Given the description of an element on the screen output the (x, y) to click on. 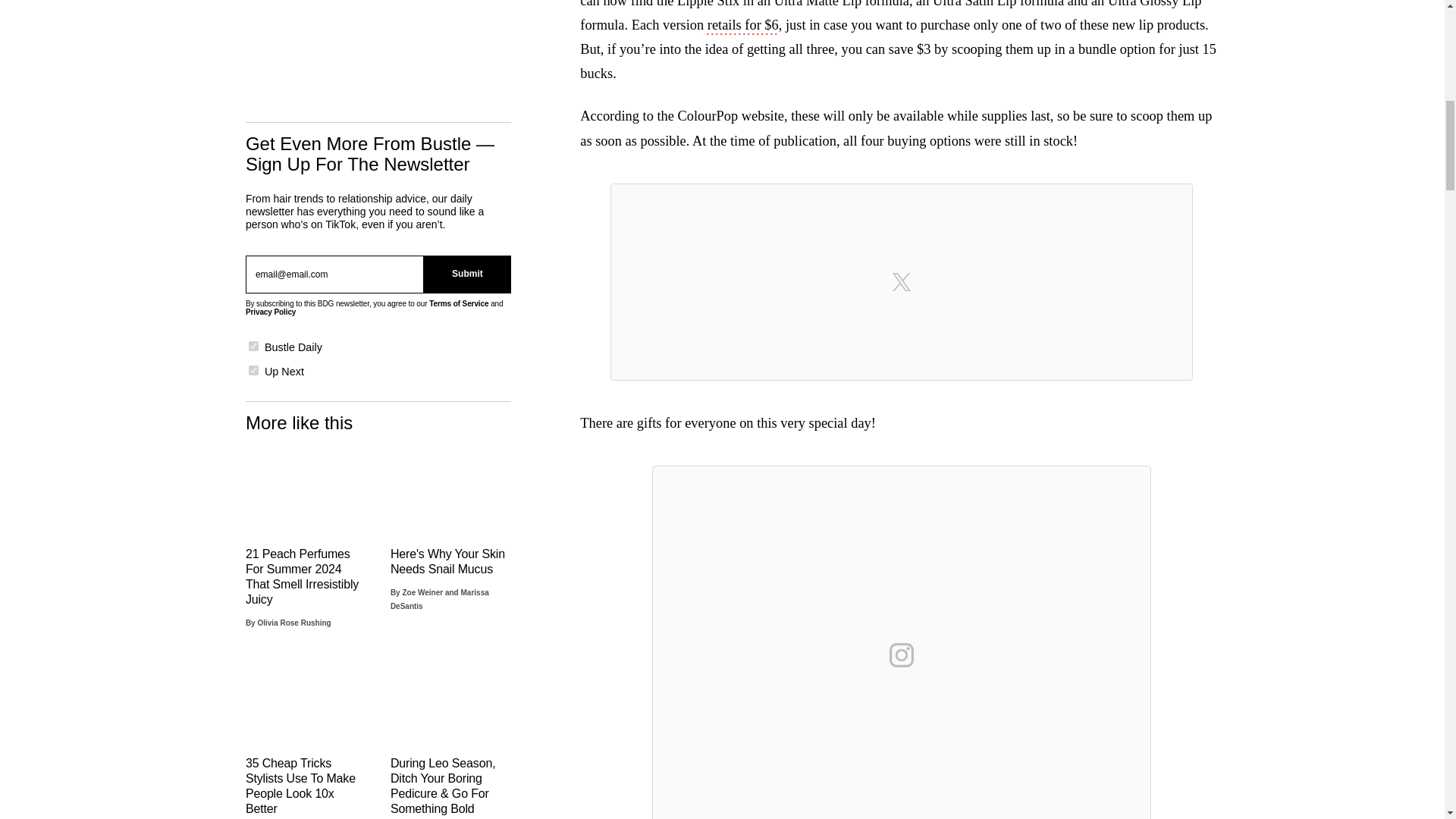
Terms of Service (458, 303)
View on Instagram (901, 655)
Privacy Policy (270, 311)
Submit (467, 274)
